Given the description of an element on the screen output the (x, y) to click on. 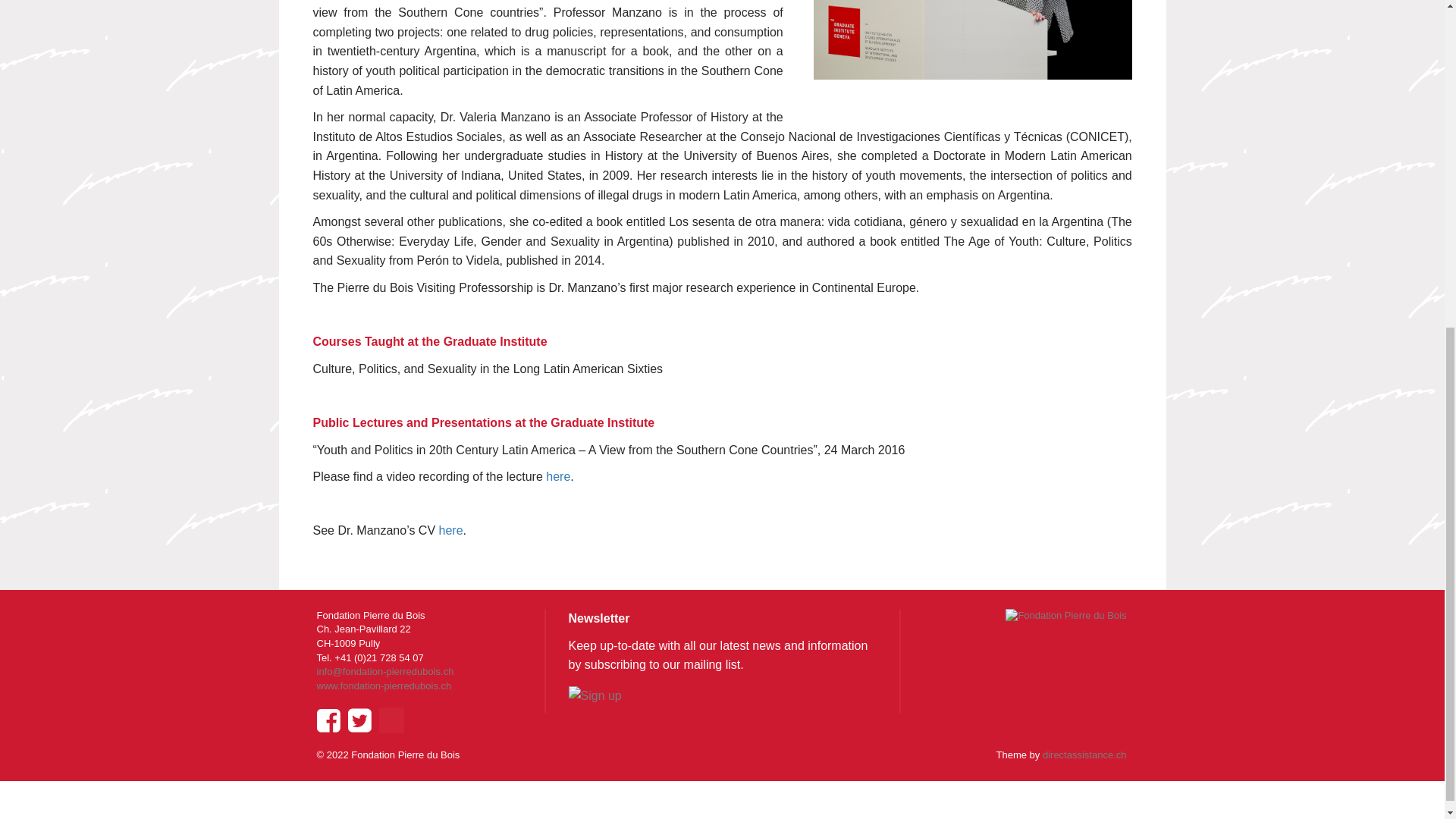
LinkedIn (391, 720)
Twitter (359, 720)
Facebook (327, 720)
Sign up (595, 695)
Fondation Pierre du Bois (1065, 616)
